Given the description of an element on the screen output the (x, y) to click on. 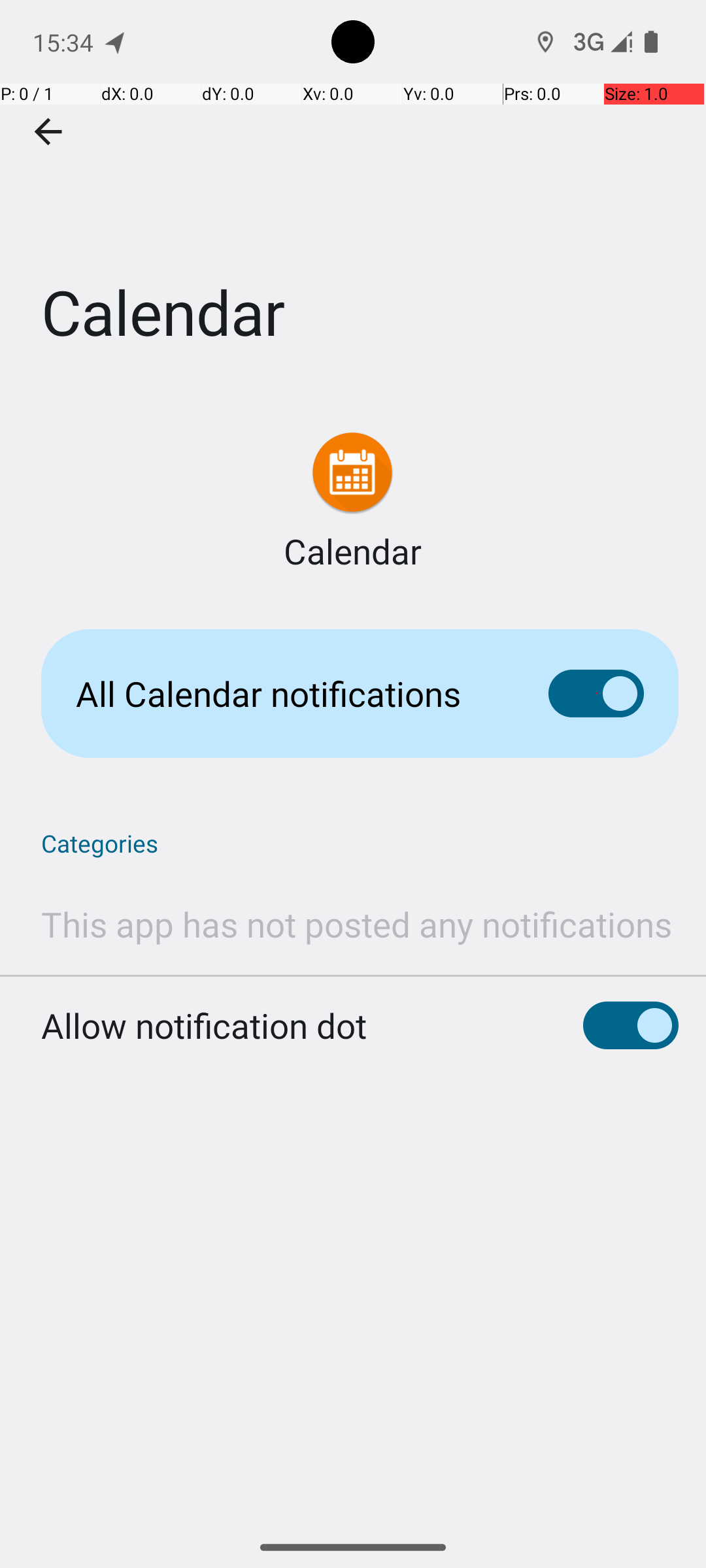
All Calendar notifications Element type: android.widget.TextView (291, 693)
This app has not posted any notifications Element type: android.widget.TextView (356, 923)
Allow notification dot Element type: android.widget.TextView (203, 1025)
